Given the description of an element on the screen output the (x, y) to click on. 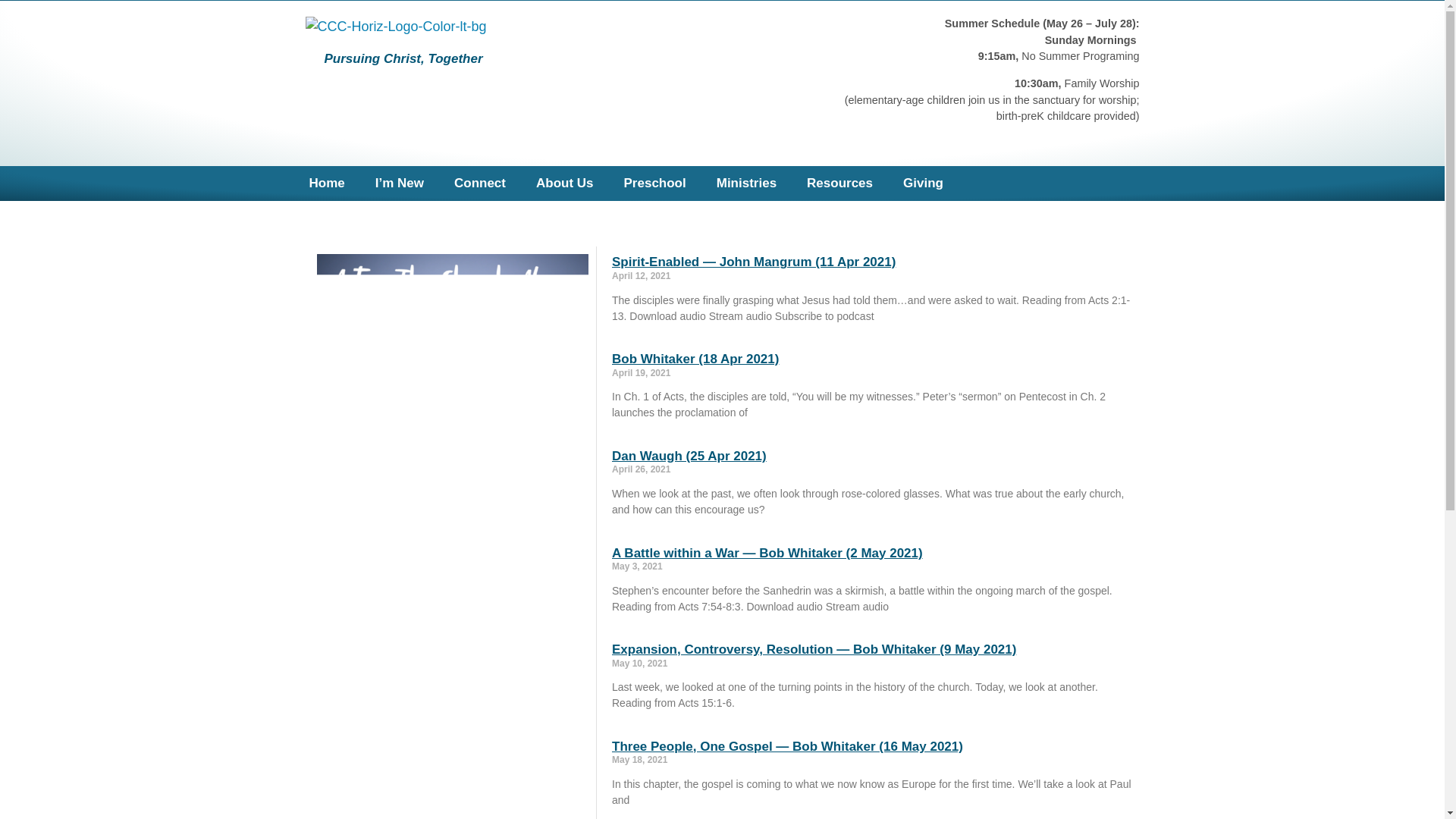
Resources (840, 183)
About Us (564, 183)
Home (326, 183)
CCC-Horiz-Logo-Color-lt-bg (395, 26)
Preschool (654, 183)
Ministries (746, 183)
Giving (923, 183)
Connect (480, 183)
